Given the description of an element on the screen output the (x, y) to click on. 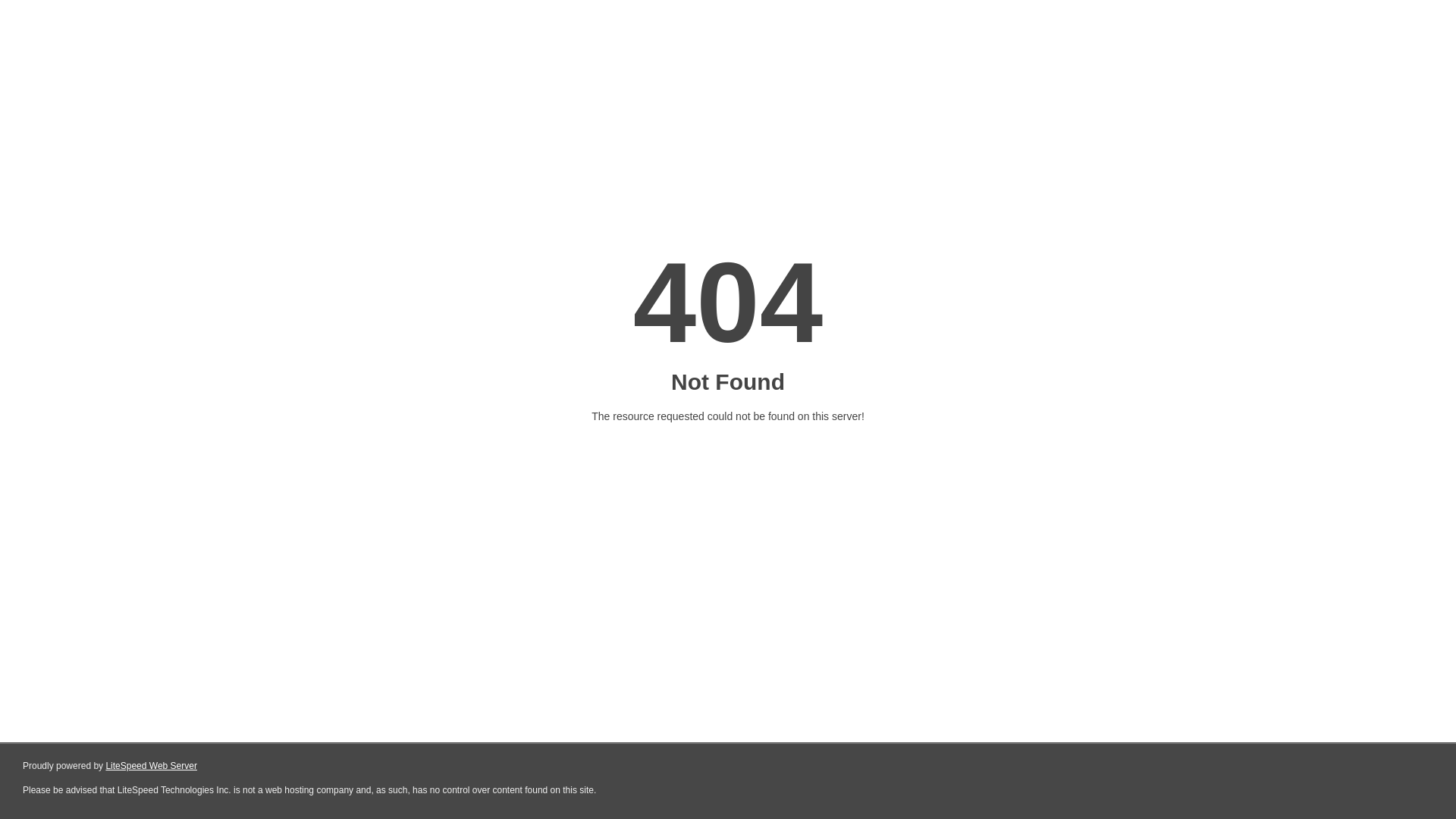
LiteSpeed Web Server Element type: text (151, 765)
